Given the description of an element on the screen output the (x, y) to click on. 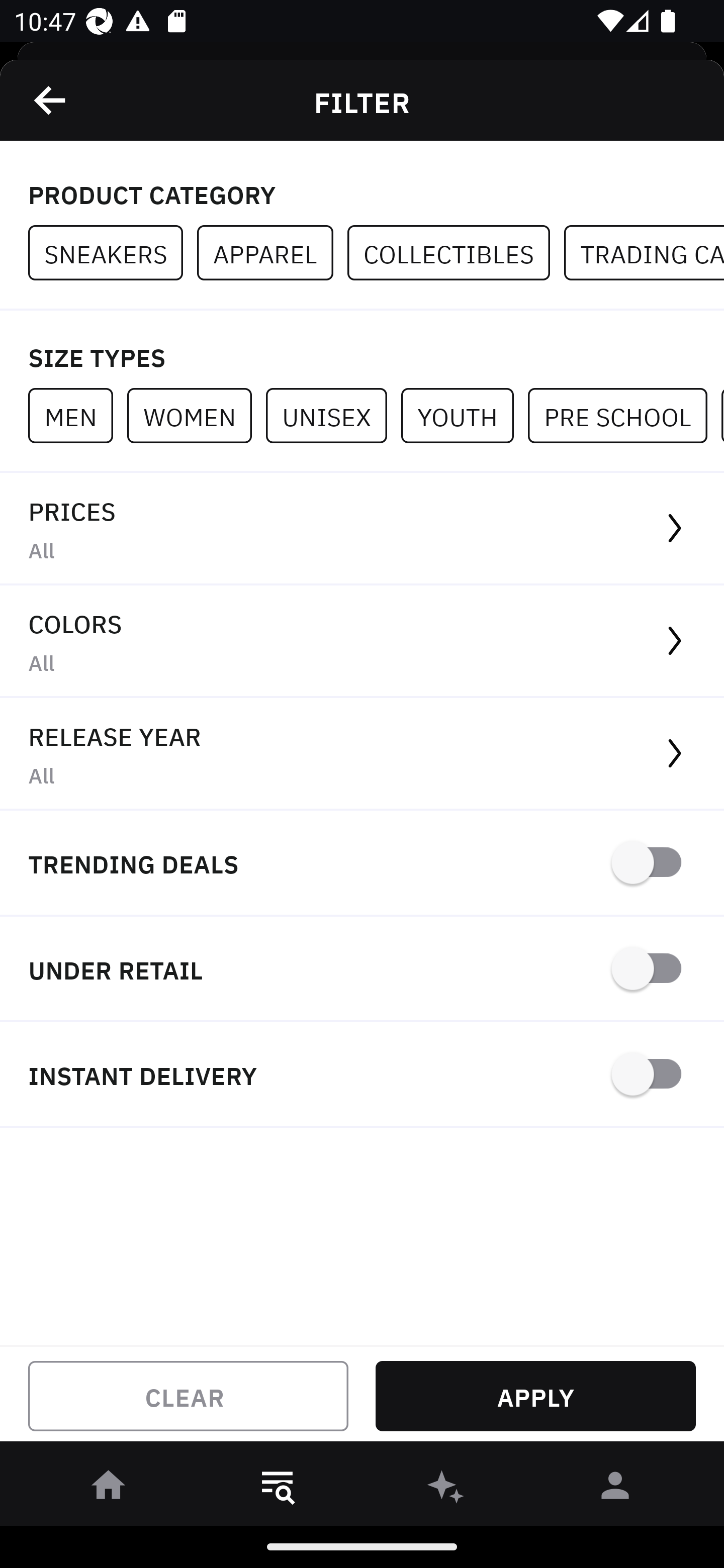
 (50, 100)
SNEAKERS (112, 252)
APPAREL (271, 252)
COLLECTIBLES (455, 252)
TRADING CARDS (643, 252)
MEN (77, 415)
WOMEN (196, 415)
UNISEX (333, 415)
YOUTH (464, 415)
PRE SCHOOL (624, 415)
PRICES All (362, 528)
COLORS All (362, 640)
RELEASE YEAR All (362, 753)
TRENDING DEALS (362, 863)
UNDER RETAIL (362, 969)
INSTANT DELIVERY (362, 1075)
CLEAR  (188, 1396)
APPLY (535, 1396)
󰋜 (108, 1488)
󱎸 (277, 1488)
󰫢 (446, 1488)
󰀄 (615, 1488)
